Given the description of an element on the screen output the (x, y) to click on. 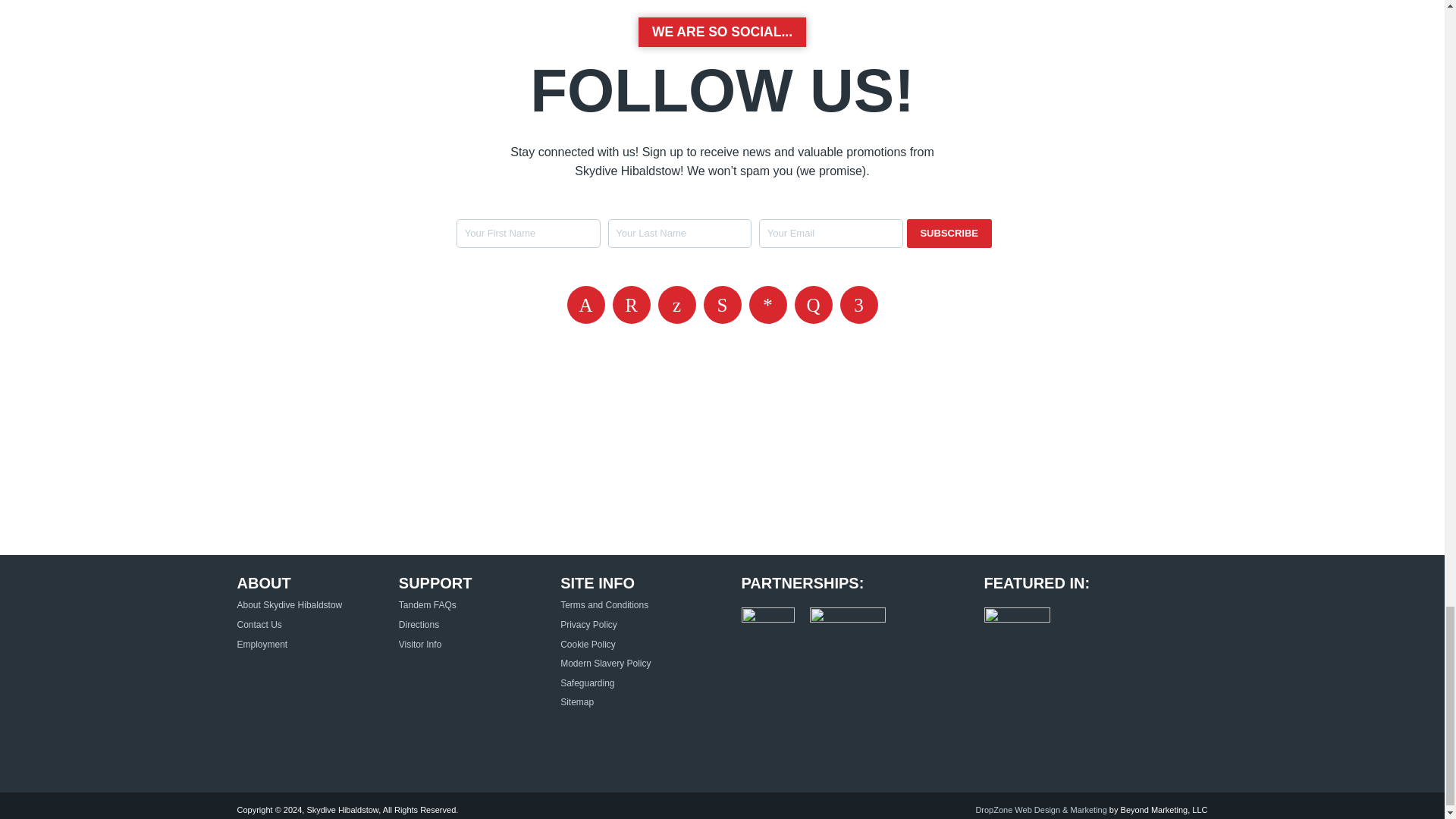
Subscribe (949, 233)
Sport England (847, 622)
